Given the description of an element on the screen output the (x, y) to click on. 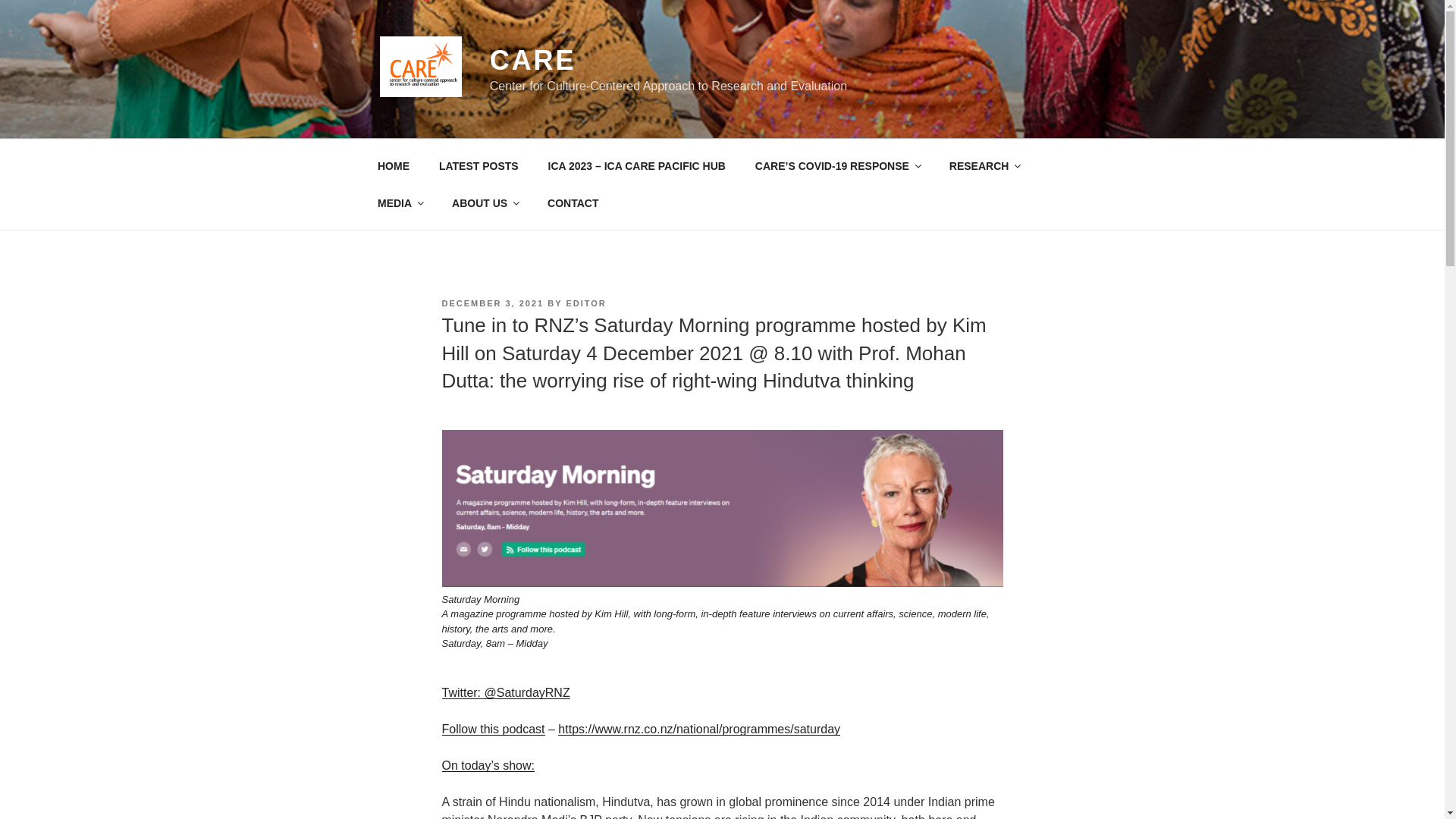
CARE (532, 60)
LATEST POSTS (478, 165)
HOME (393, 165)
RESEARCH (984, 165)
